Given the description of an element on the screen output the (x, y) to click on. 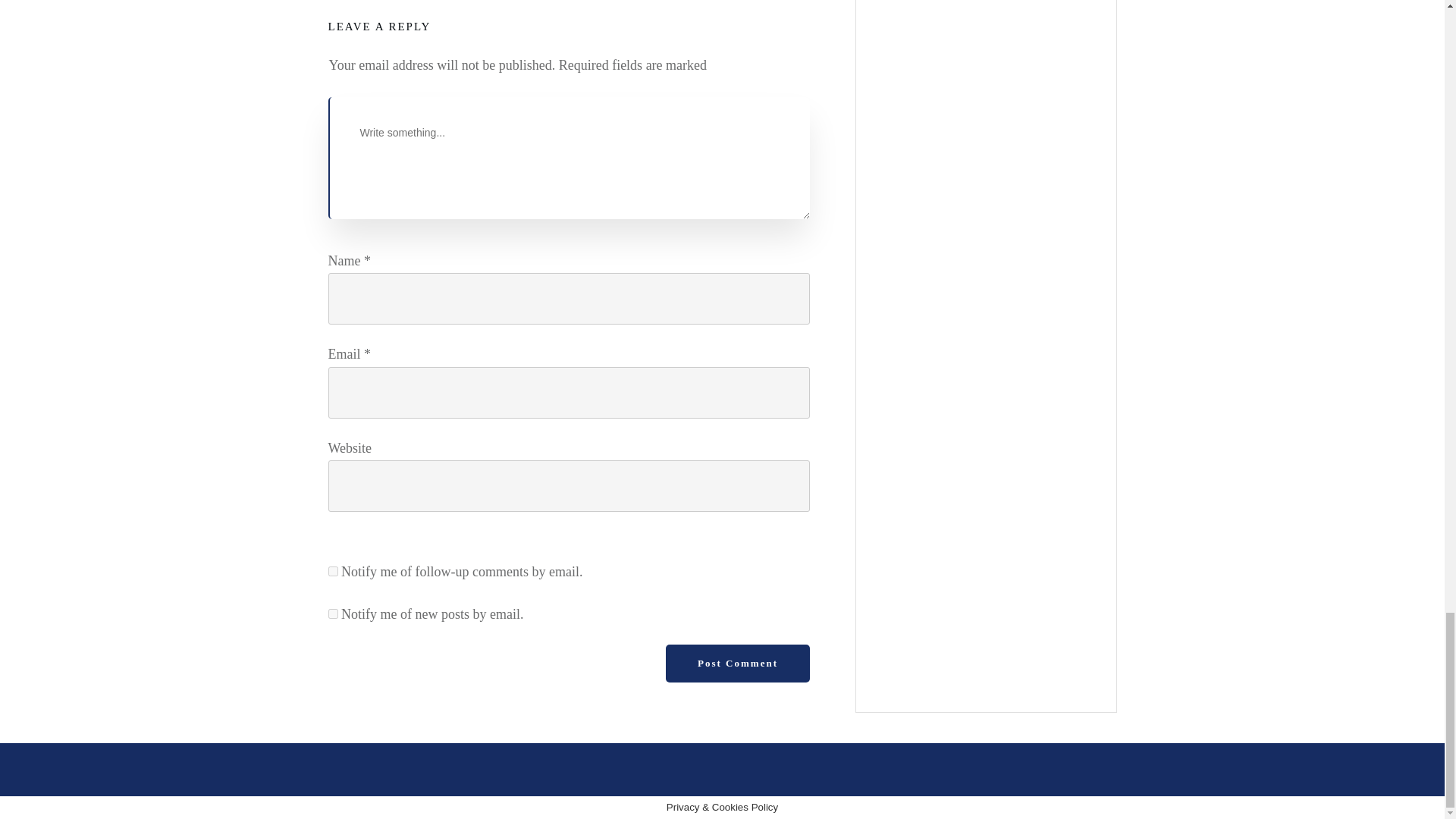
subscribe (332, 571)
subscribe (332, 614)
